Given the description of an element on the screen output the (x, y) to click on. 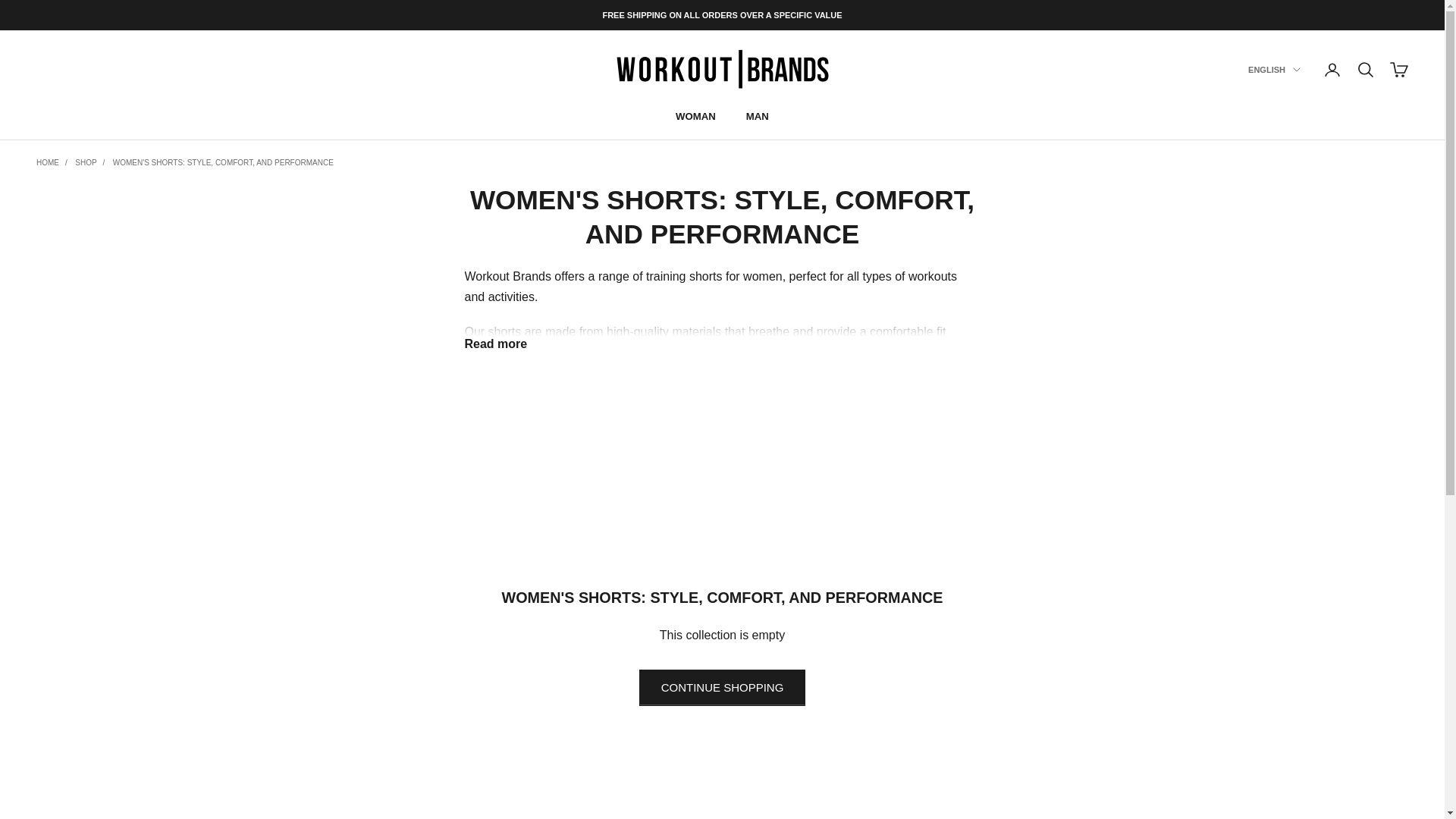
workoutbrands.com (722, 69)
